Given the description of an element on the screen output the (x, y) to click on. 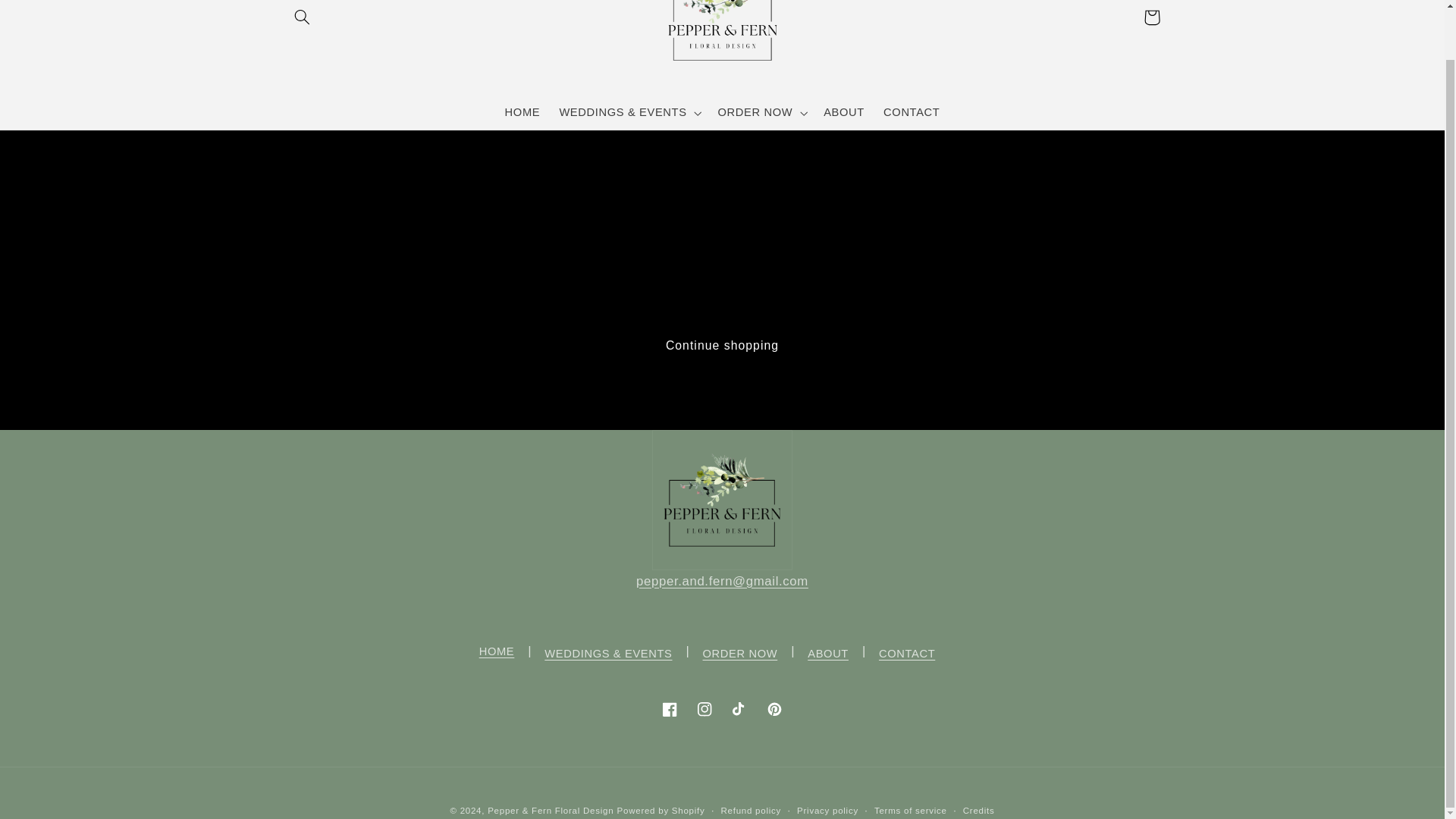
Cart (1151, 17)
CONTACT (911, 112)
ABOUT (844, 112)
HOME (522, 112)
